Given the description of an element on the screen output the (x, y) to click on. 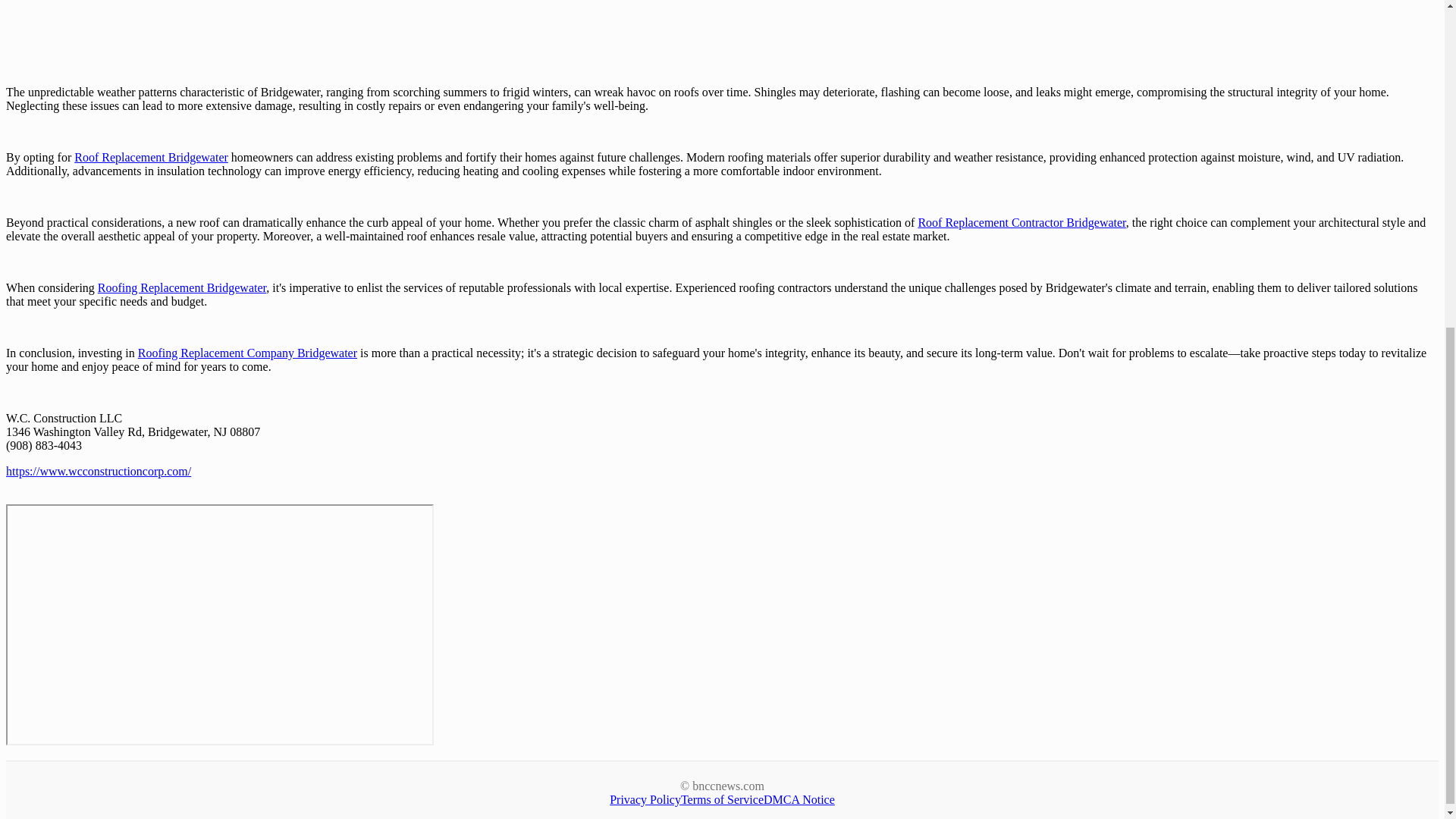
Roofing Replacement Bridgewater (181, 287)
Roofing Replacement Company Bridgewater (247, 352)
DMCA Notice (798, 799)
Terms of Service (721, 799)
Privacy Policy (645, 799)
Roof Replacement Bridgewater (151, 156)
Roof Replacement Contractor Bridgewater (1021, 222)
